Given the description of an element on the screen output the (x, y) to click on. 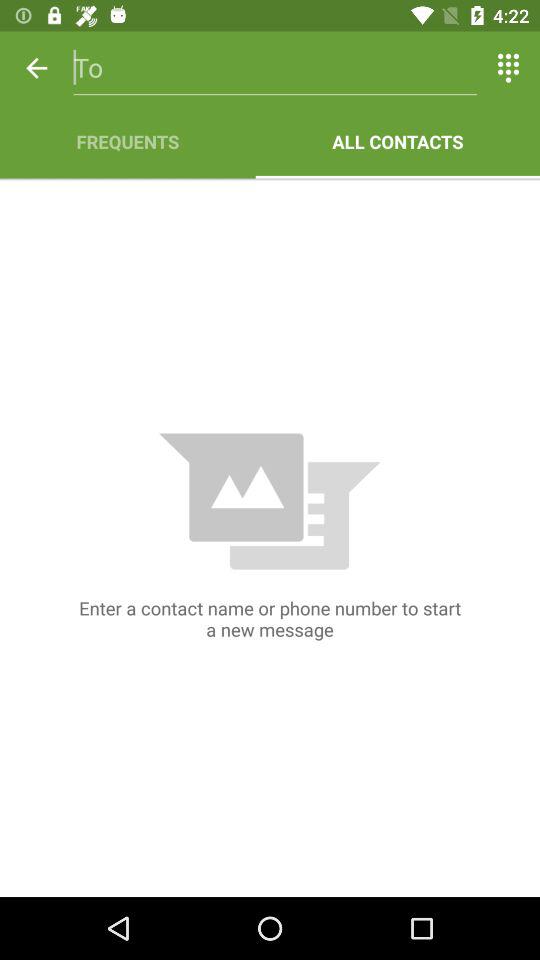
choose the item next to the frequents item (397, 141)
